Given the description of an element on the screen output the (x, y) to click on. 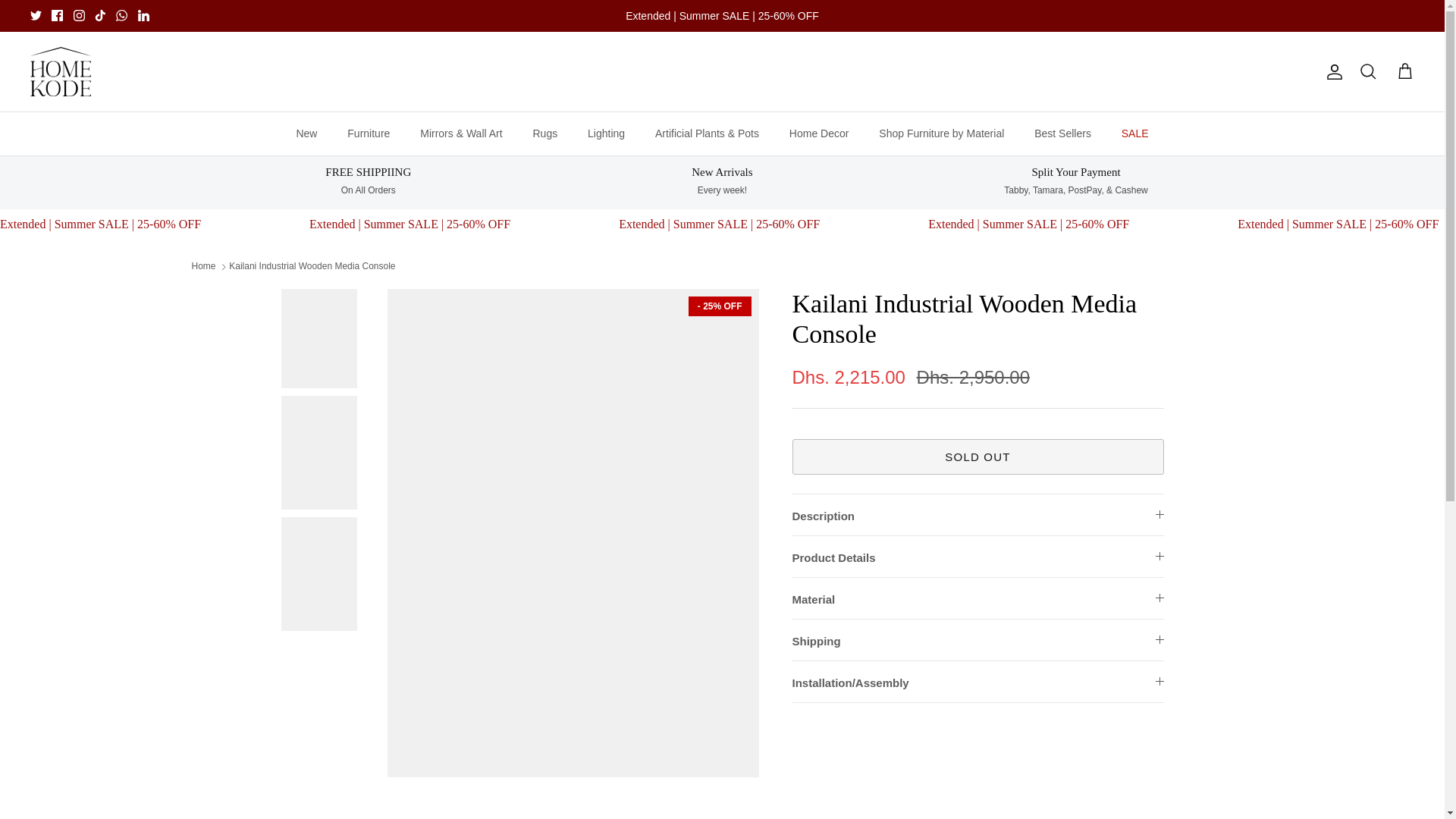
Facebook (56, 15)
Account (1331, 72)
Instagram (79, 15)
Facebook (56, 15)
Furniture (368, 133)
Twitter (36, 15)
Cart (1404, 71)
Instagram (79, 15)
Search (1367, 71)
Twitter (36, 15)
Homekode (60, 71)
New (306, 133)
